Given the description of an element on the screen output the (x, y) to click on. 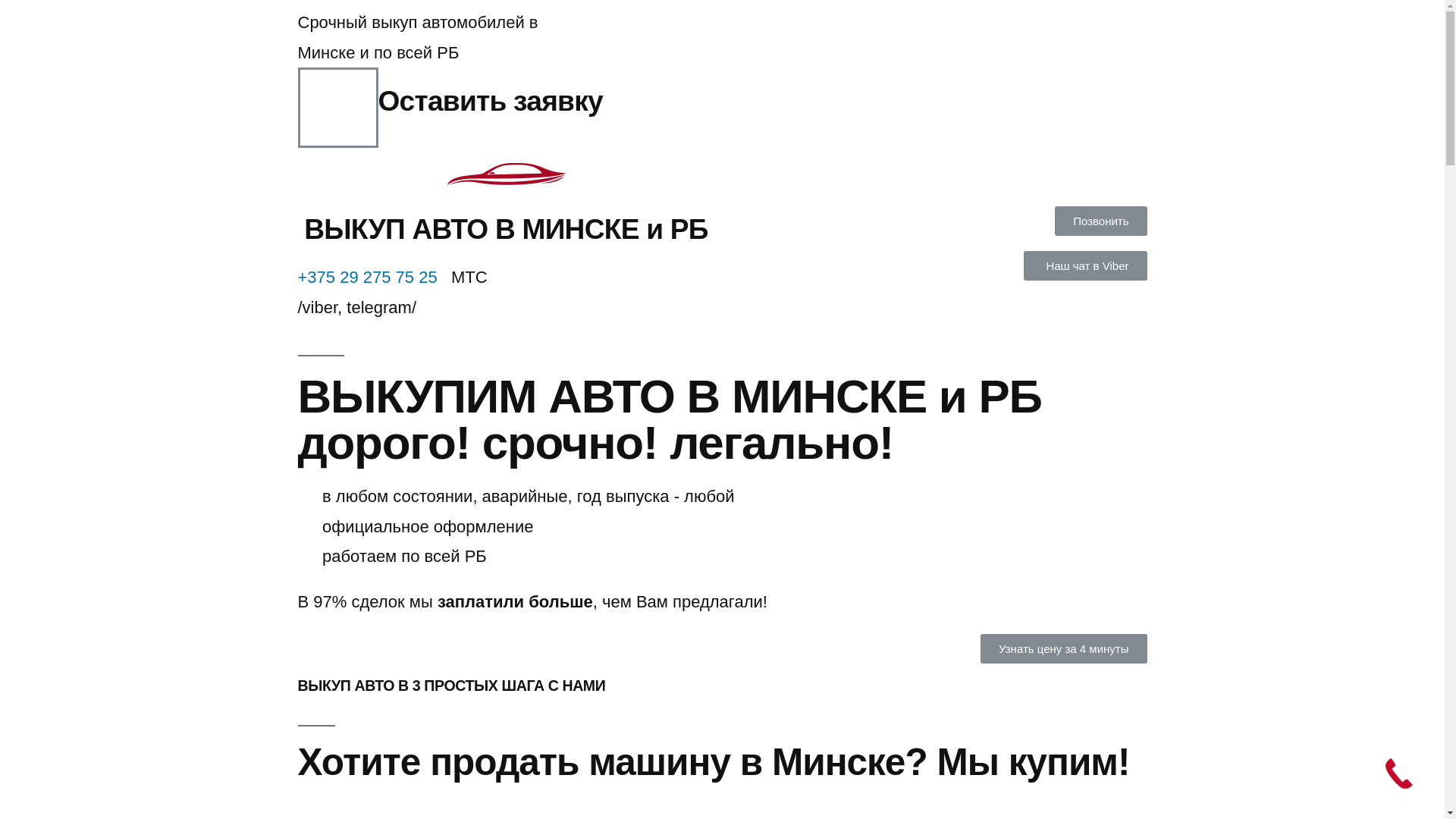
+375 29 275 75 25 Element type: text (366, 276)
  Element type: text (439, 276)
